Given the description of an element on the screen output the (x, y) to click on. 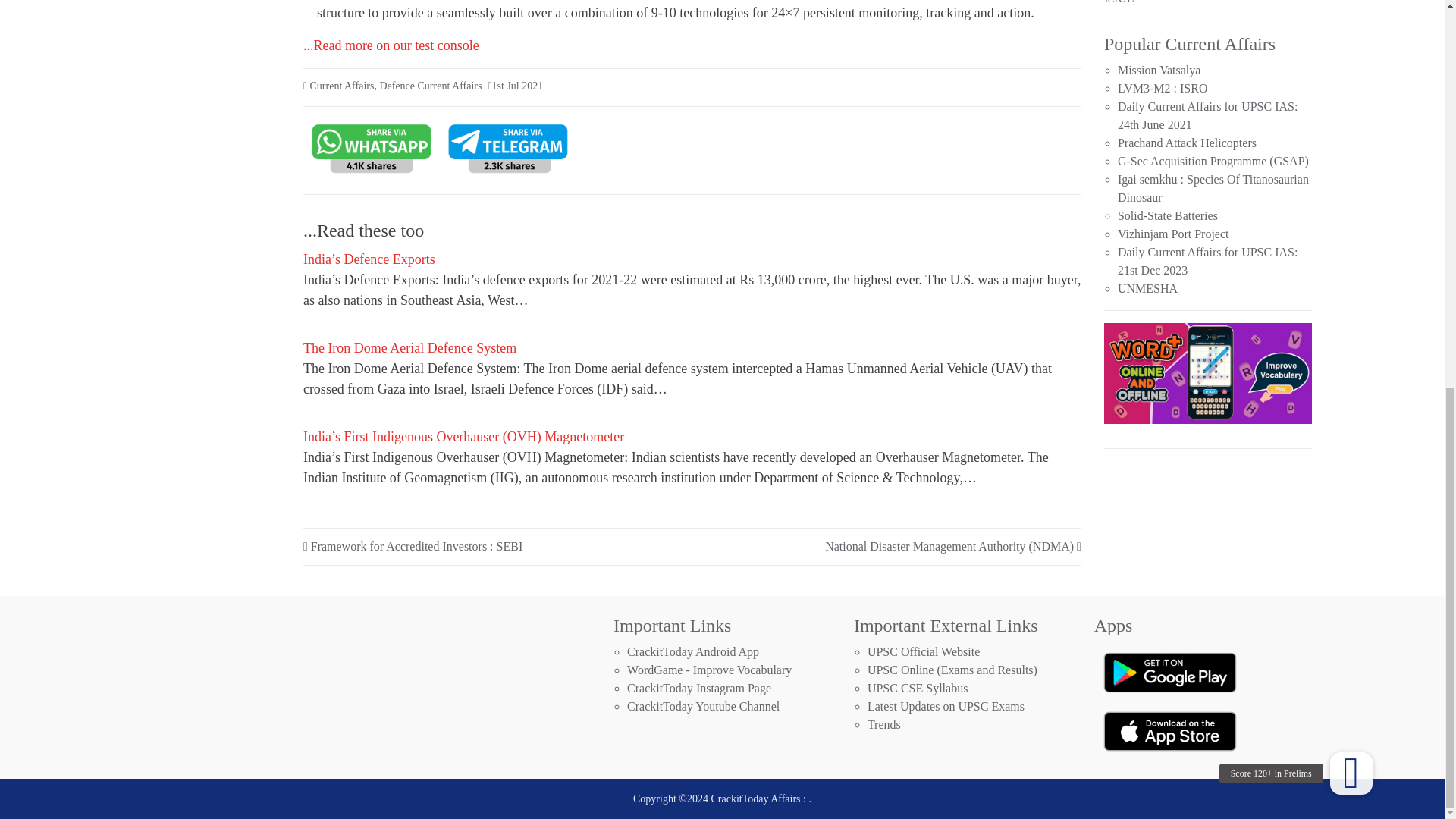
Framework for Accredited Investors : SEBI (416, 545)
Current Affairs (342, 85)
Defence Current Affairs (429, 85)
The Iron Dome Aerial Defence System (409, 349)
1st Jul 2021 (517, 85)
...Read more on our test console (390, 45)
